Given the description of an element on the screen output the (x, y) to click on. 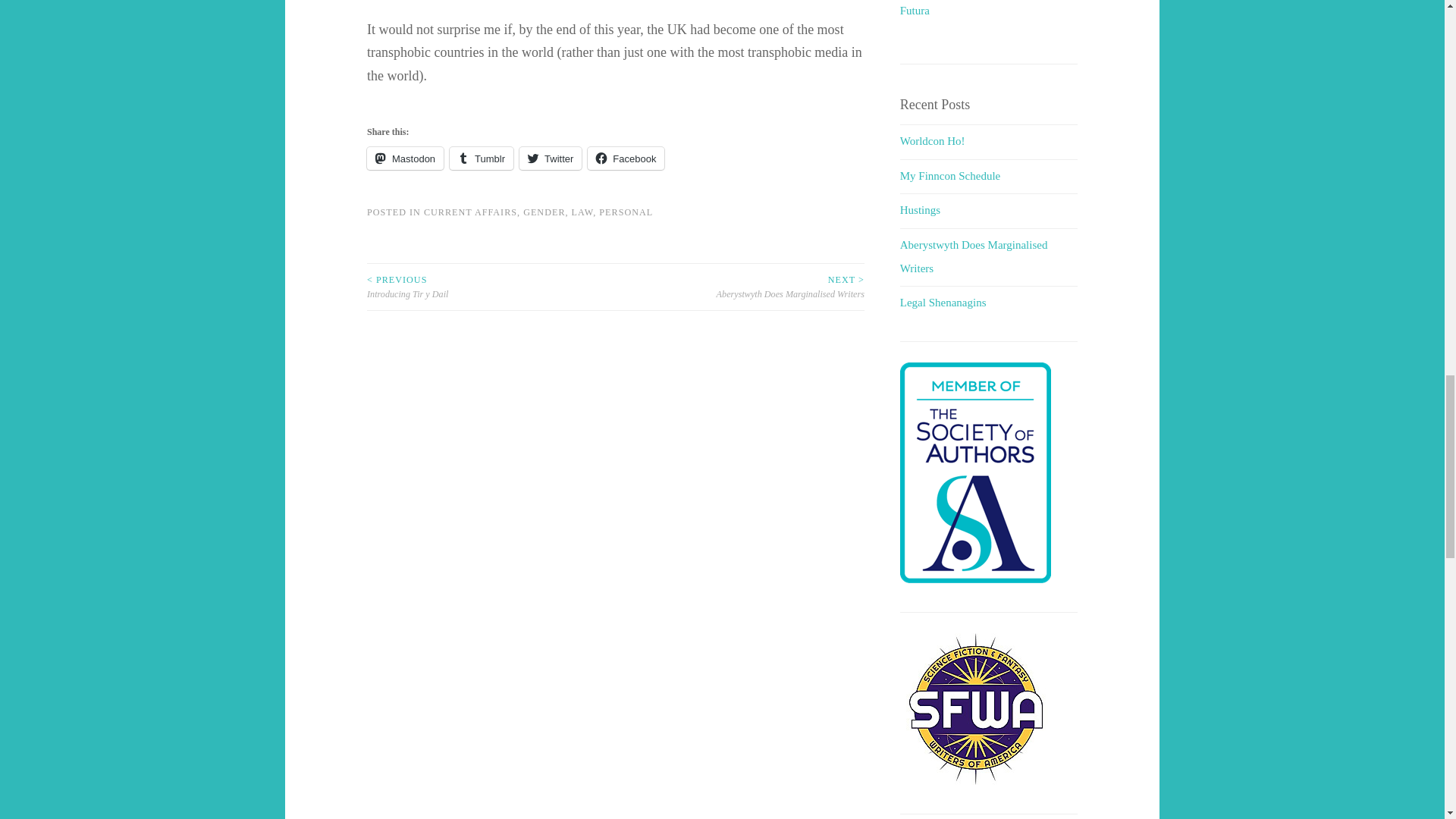
Facebook (625, 158)
Click to share on Mastodon (405, 158)
Mastodon (405, 158)
Twitter (549, 158)
Click to share on Twitter (549, 158)
Tumblr (481, 158)
Click to share on Tumblr (481, 158)
Click to share on Facebook (625, 158)
